Given the description of an element on the screen output the (x, y) to click on. 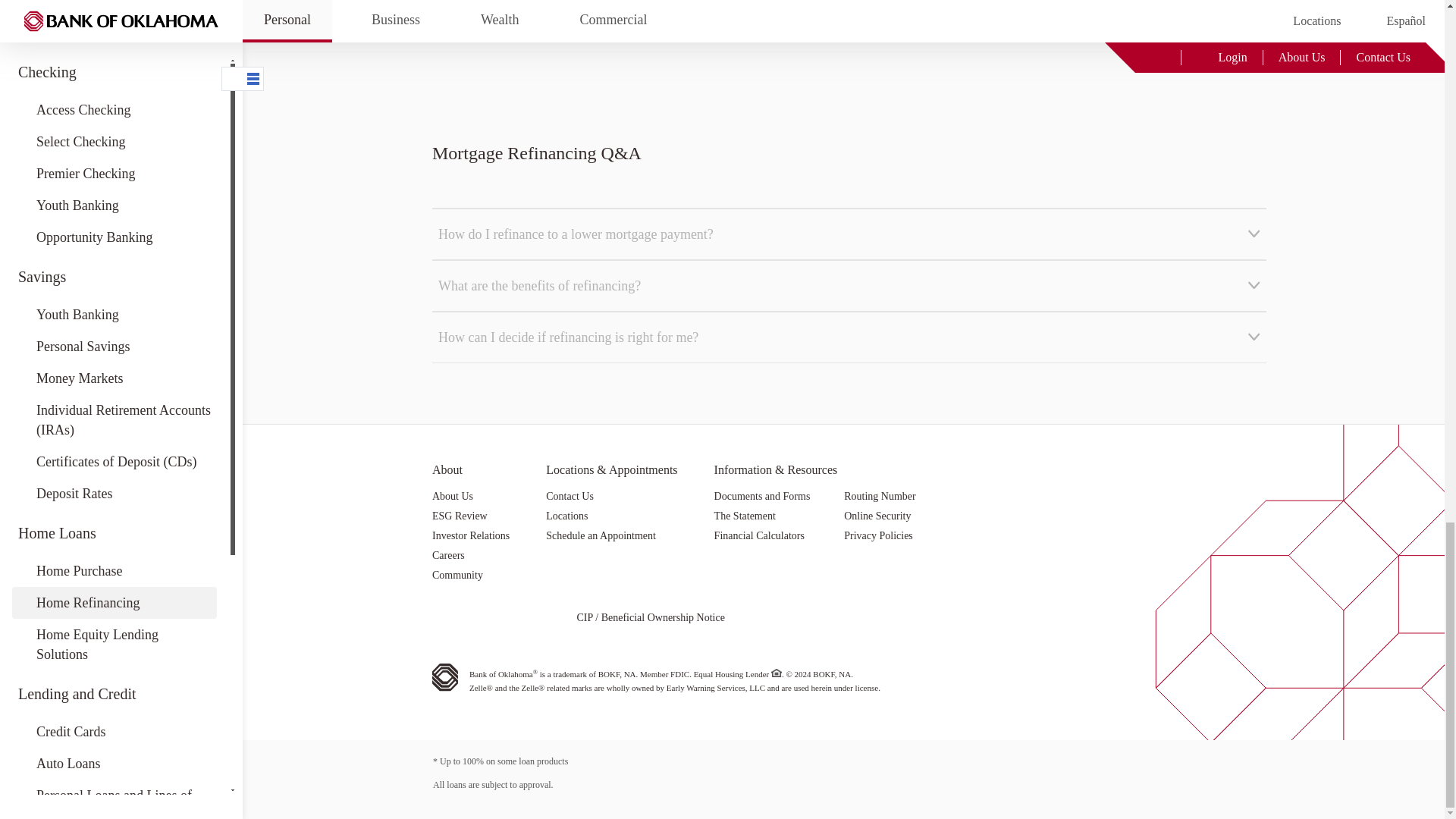
LinkedIn (476, 618)
Twitter (511, 618)
Facebook (439, 618)
YouTube (547, 618)
